Given the description of an element on the screen output the (x, y) to click on. 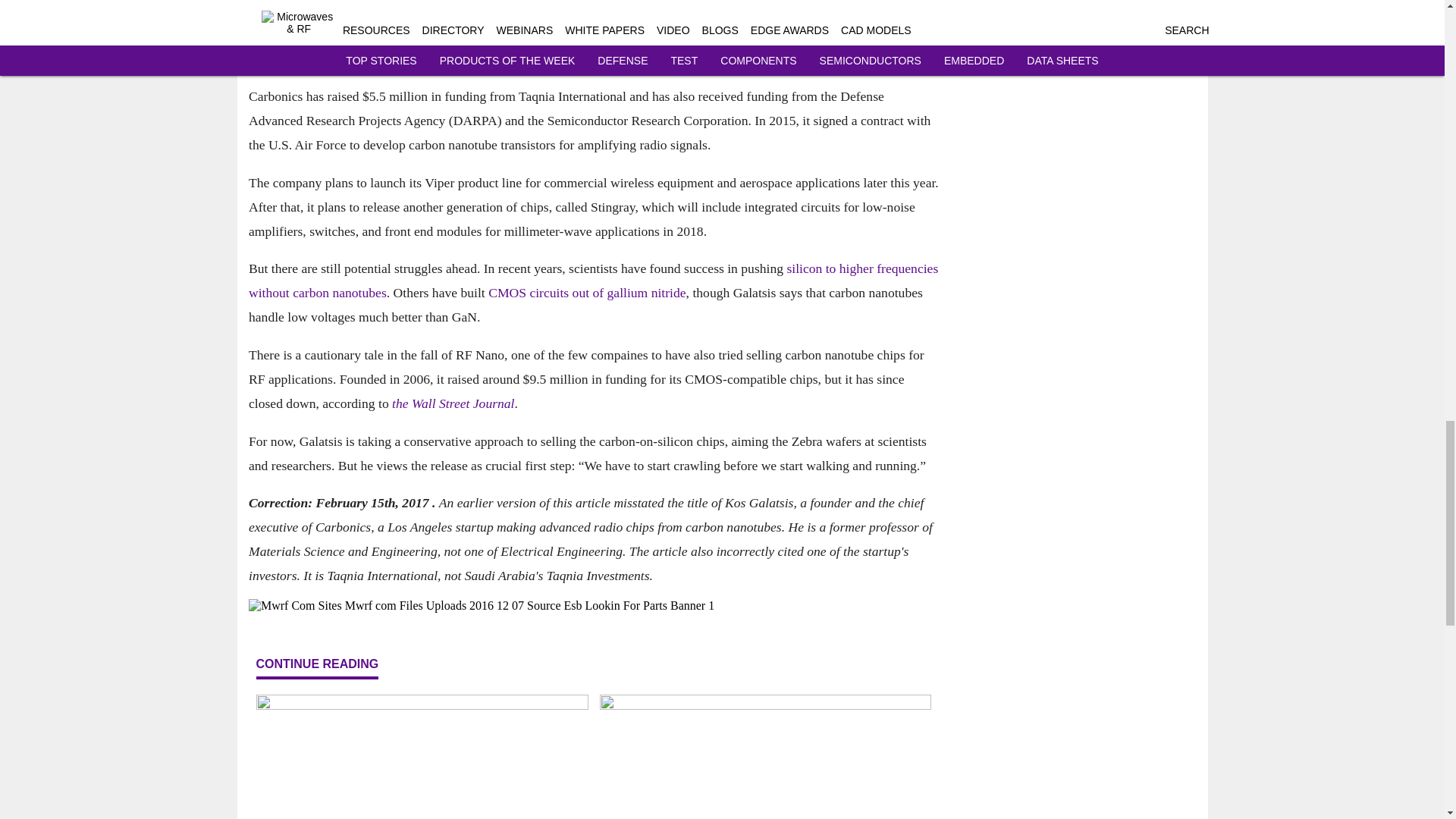
silicon to higher frequencies without carbon nanotubes (592, 280)
CMOS circuits out of gallium nitride (586, 292)
the Wall Street Journal (452, 403)
